Given the description of an element on the screen output the (x, y) to click on. 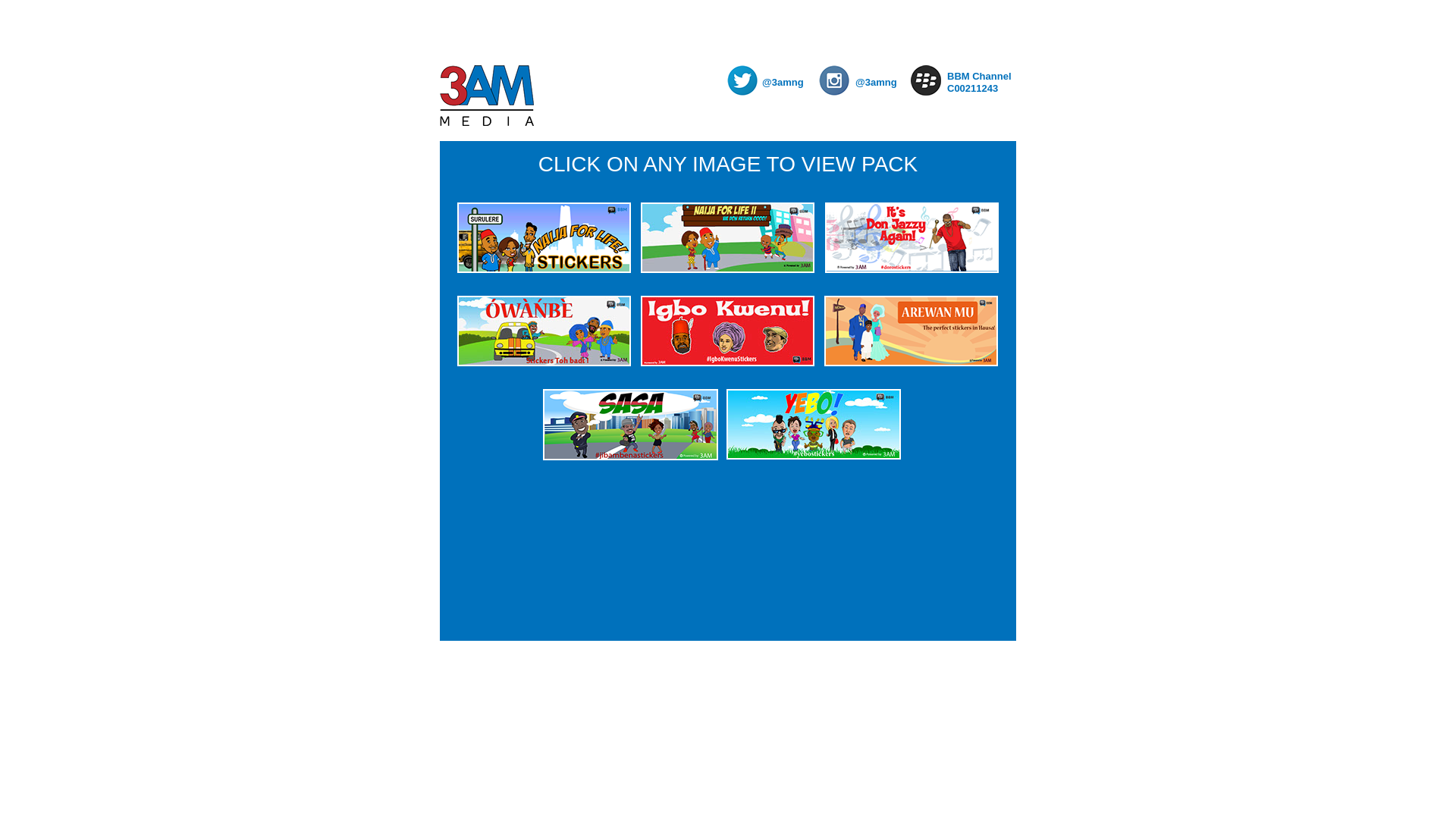
@3amng Element type: text (879, 82)
@3amng Element type: text (786, 82)
